Given the description of an element on the screen output the (x, y) to click on. 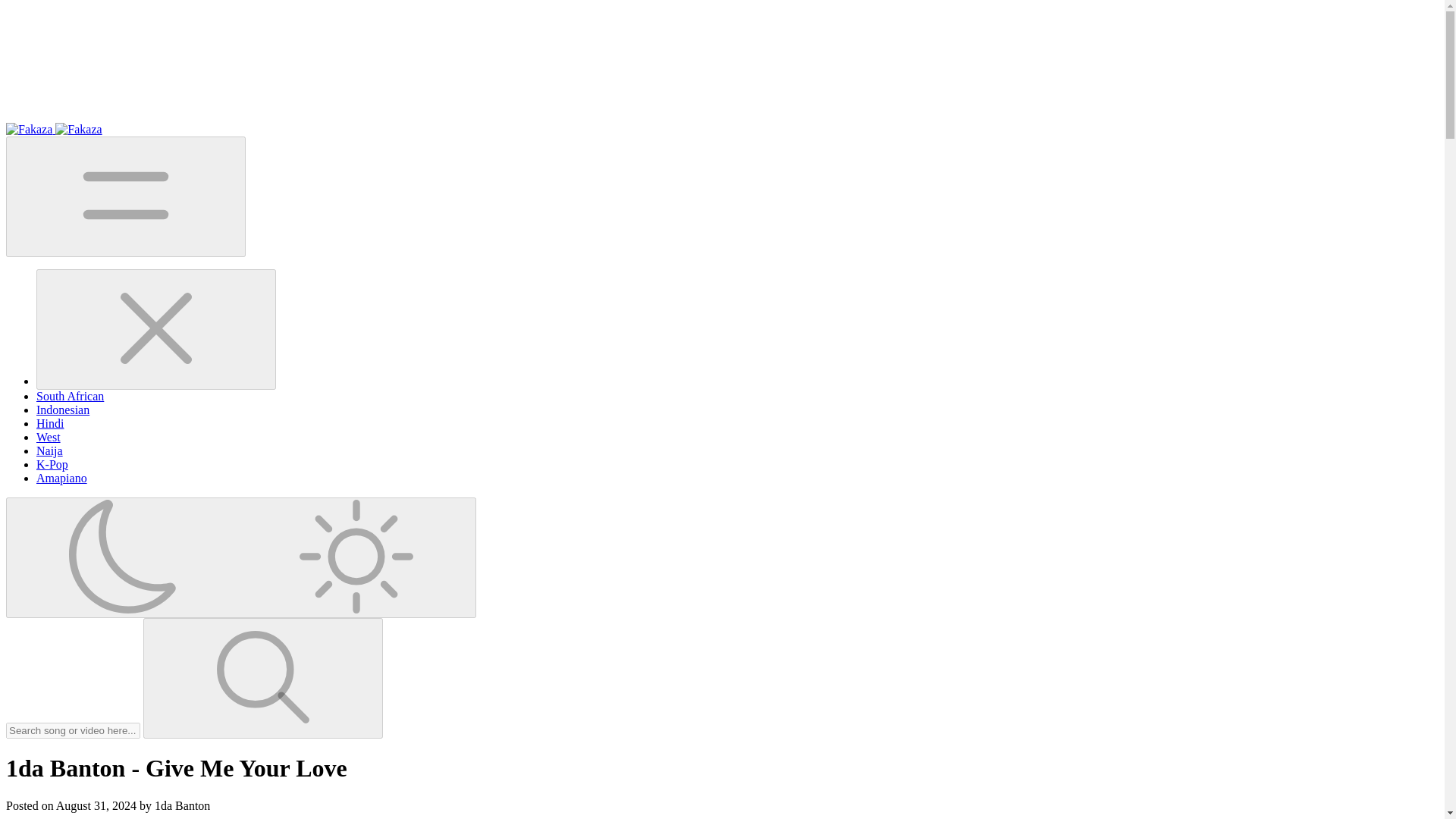
South African (69, 395)
Indonesian (62, 409)
Amapiano (61, 477)
Hindi (50, 422)
Naija (49, 450)
West (48, 436)
K-Pop (52, 463)
